Given the description of an element on the screen output the (x, y) to click on. 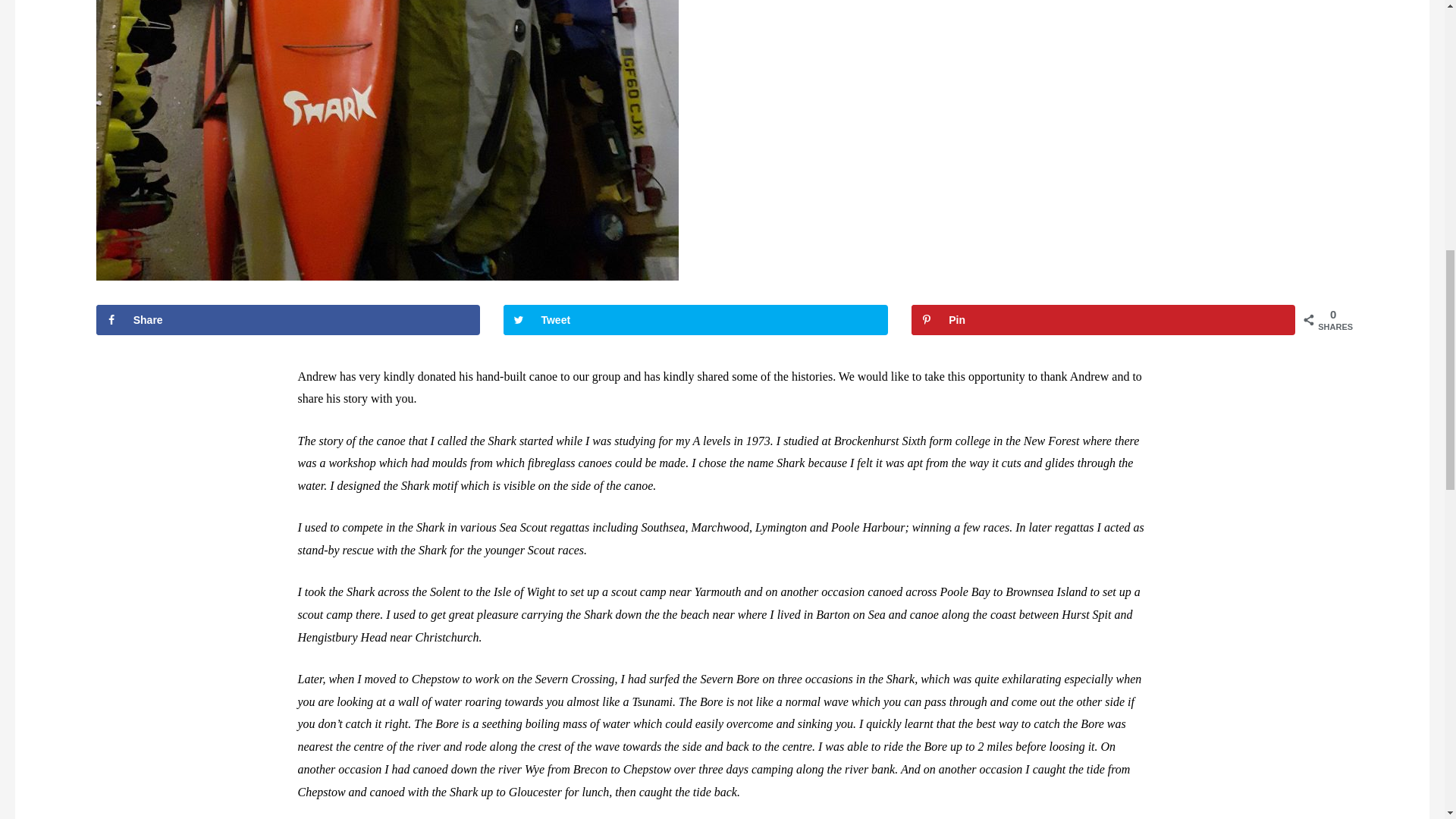
Tweet (694, 319)
Save to Pinterest (1103, 319)
Share on Facebook (288, 319)
Share (288, 319)
Pin (1103, 319)
Share on Twitter (694, 319)
